Given the description of an element on the screen output the (x, y) to click on. 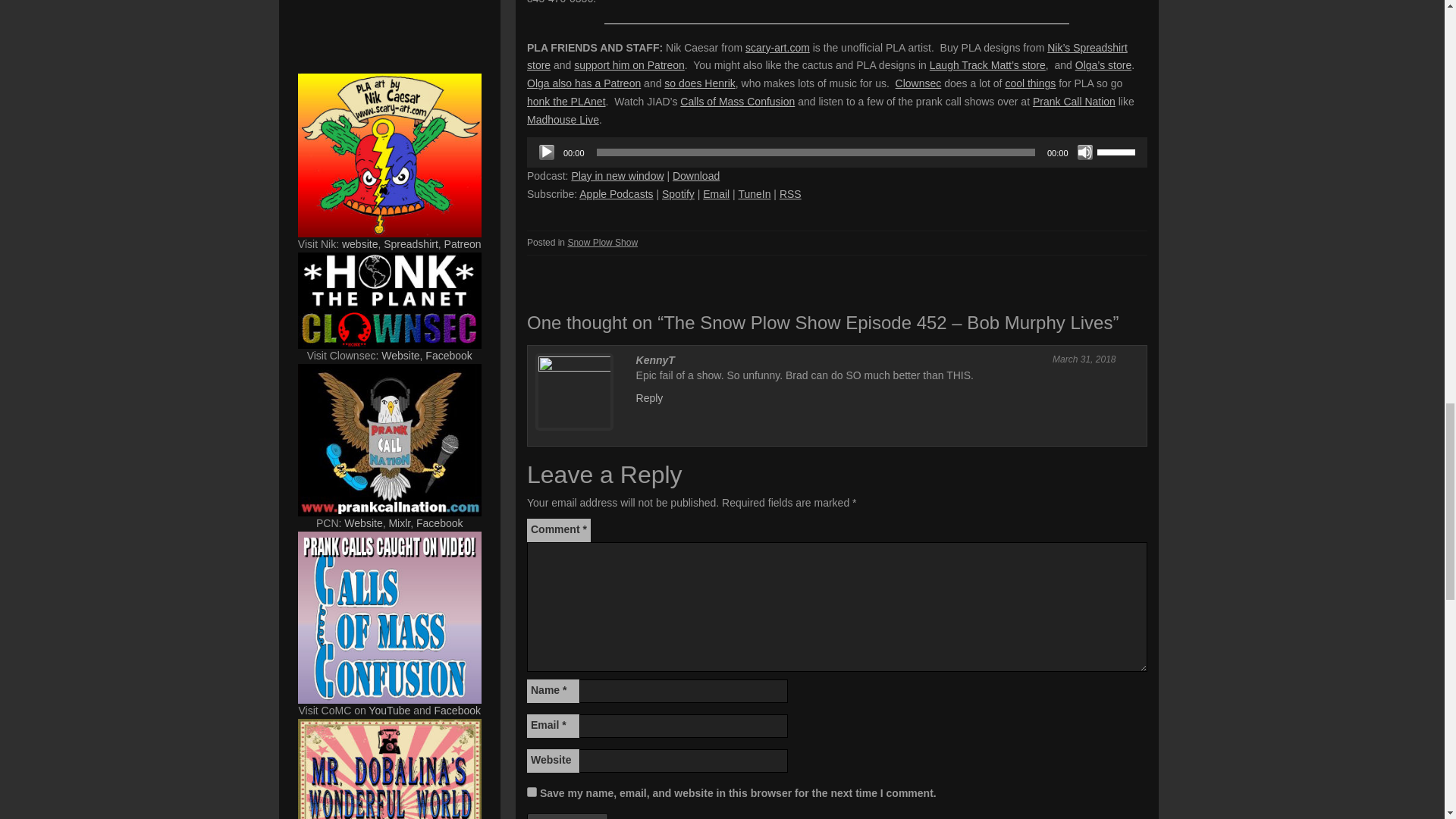
Play in new window (616, 175)
Subscribe on TuneIn (754, 193)
yes (532, 791)
Subscribe on Spotify (678, 193)
Play (546, 151)
Mute (1084, 151)
Download (695, 175)
Subscribe on Apple Podcasts (615, 193)
Post Comment (567, 816)
Subscribe by Email (716, 193)
Subscribe via RSS (790, 193)
